Given the description of an element on the screen output the (x, y) to click on. 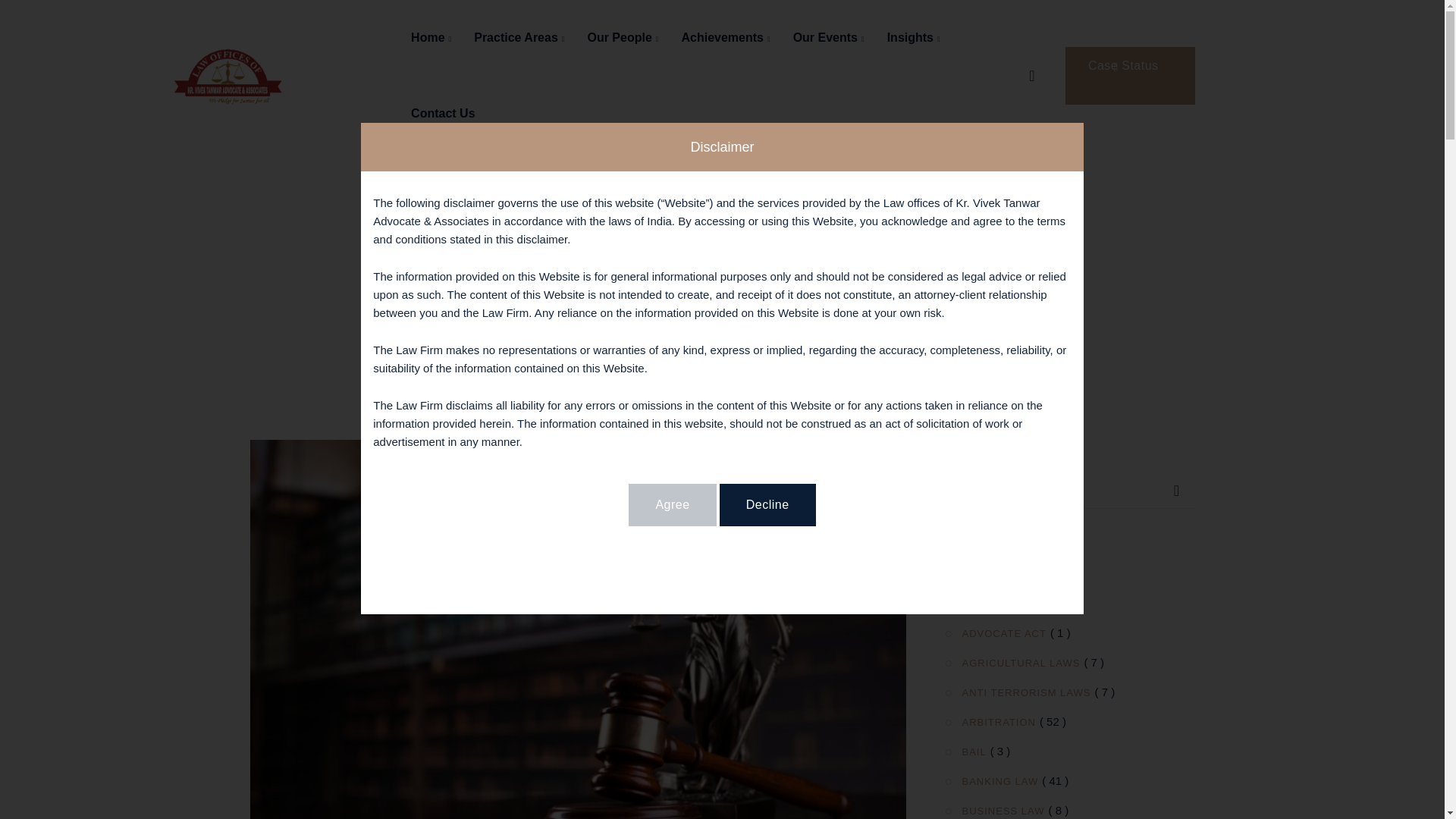
Our People (622, 38)
Decline (767, 505)
Practice Areas (519, 38)
Agree (672, 505)
Advocate Tanwar (228, 75)
